Given the description of an element on the screen output the (x, y) to click on. 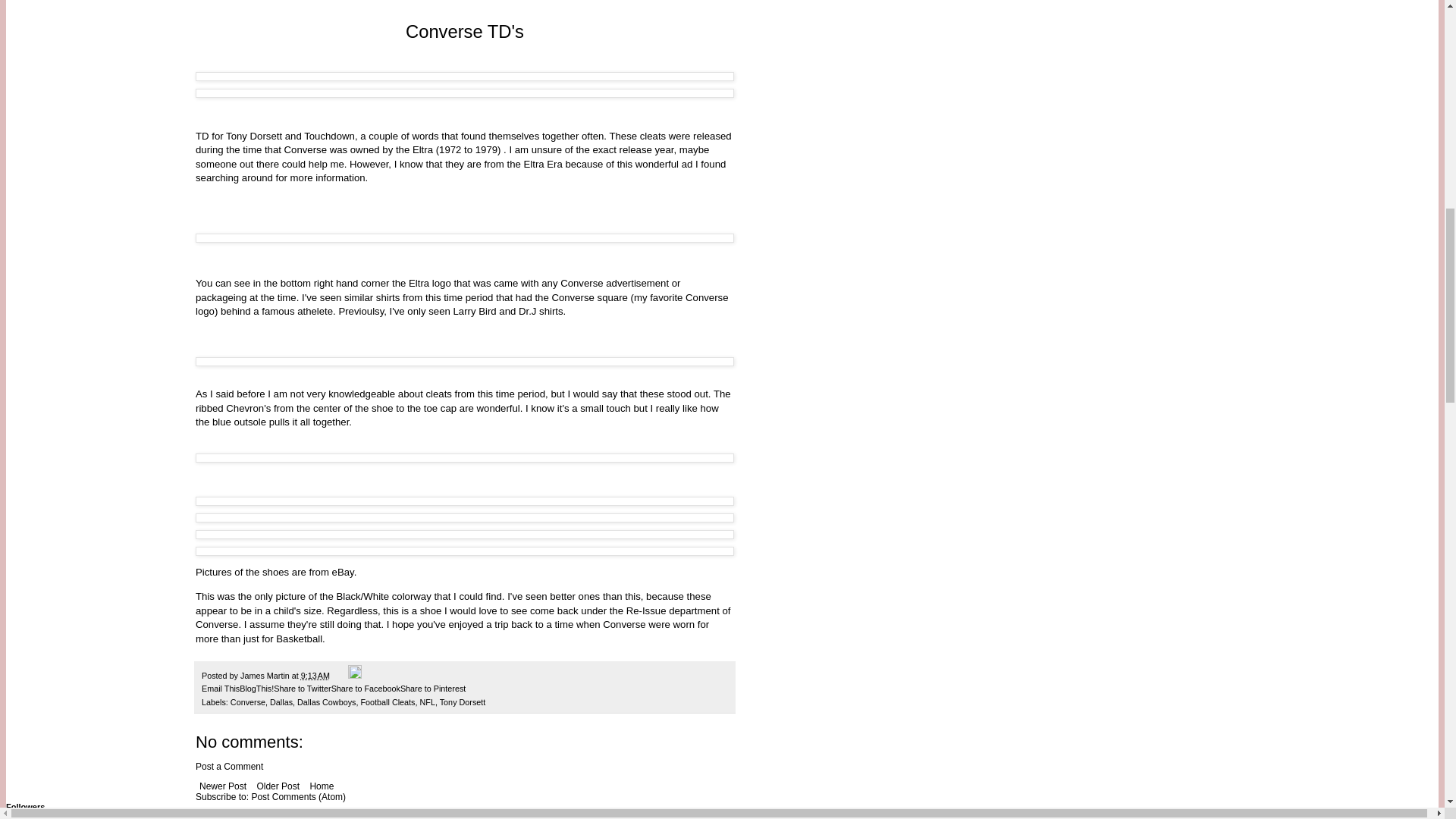
Older Post (276, 786)
Email This (221, 687)
Email This (221, 687)
Dallas (280, 701)
Share to Twitter (301, 687)
Converse (247, 701)
Share to Pinterest (432, 687)
BlogThis! (256, 687)
Newer Post (222, 786)
Dallas Cowboys (326, 701)
James Martin (266, 675)
permanent link (315, 675)
Football Cleats (386, 701)
author profile (266, 675)
